Given the description of an element on the screen output the (x, y) to click on. 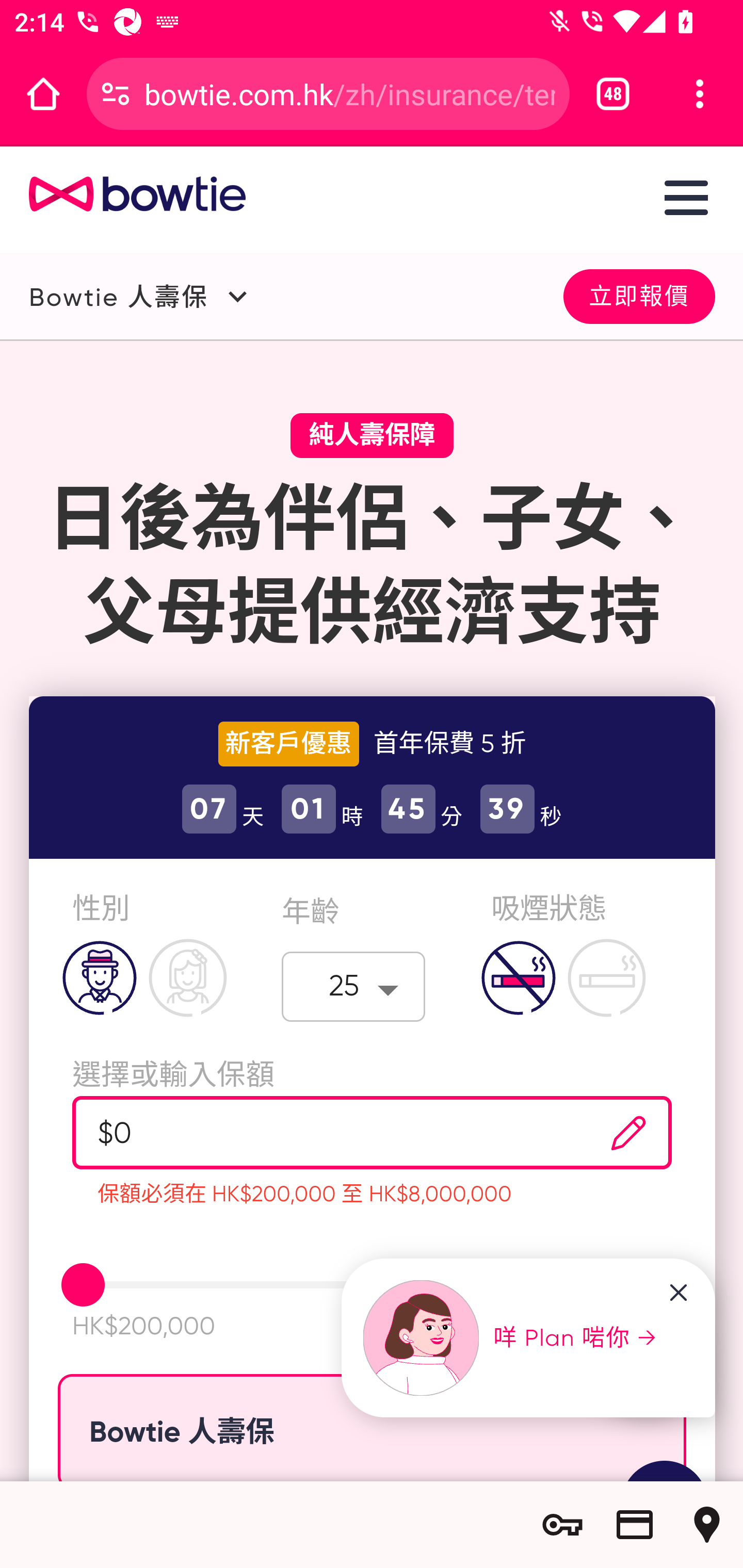
Open the home page (43, 93)
Connection is secure (115, 93)
Switch or close tabs (612, 93)
Customize and control Google Chrome (699, 93)
www.bowtie.com (122, 195)
立即報價 (638, 295)
25 (353, 986)
$0 (321, 1132)
咩 Plan 啱你 → (510, 1338)
Show saved passwords and password options (562, 1524)
Show saved payment methods (634, 1524)
Show saved addresses (706, 1524)
